Given the description of an element on the screen output the (x, y) to click on. 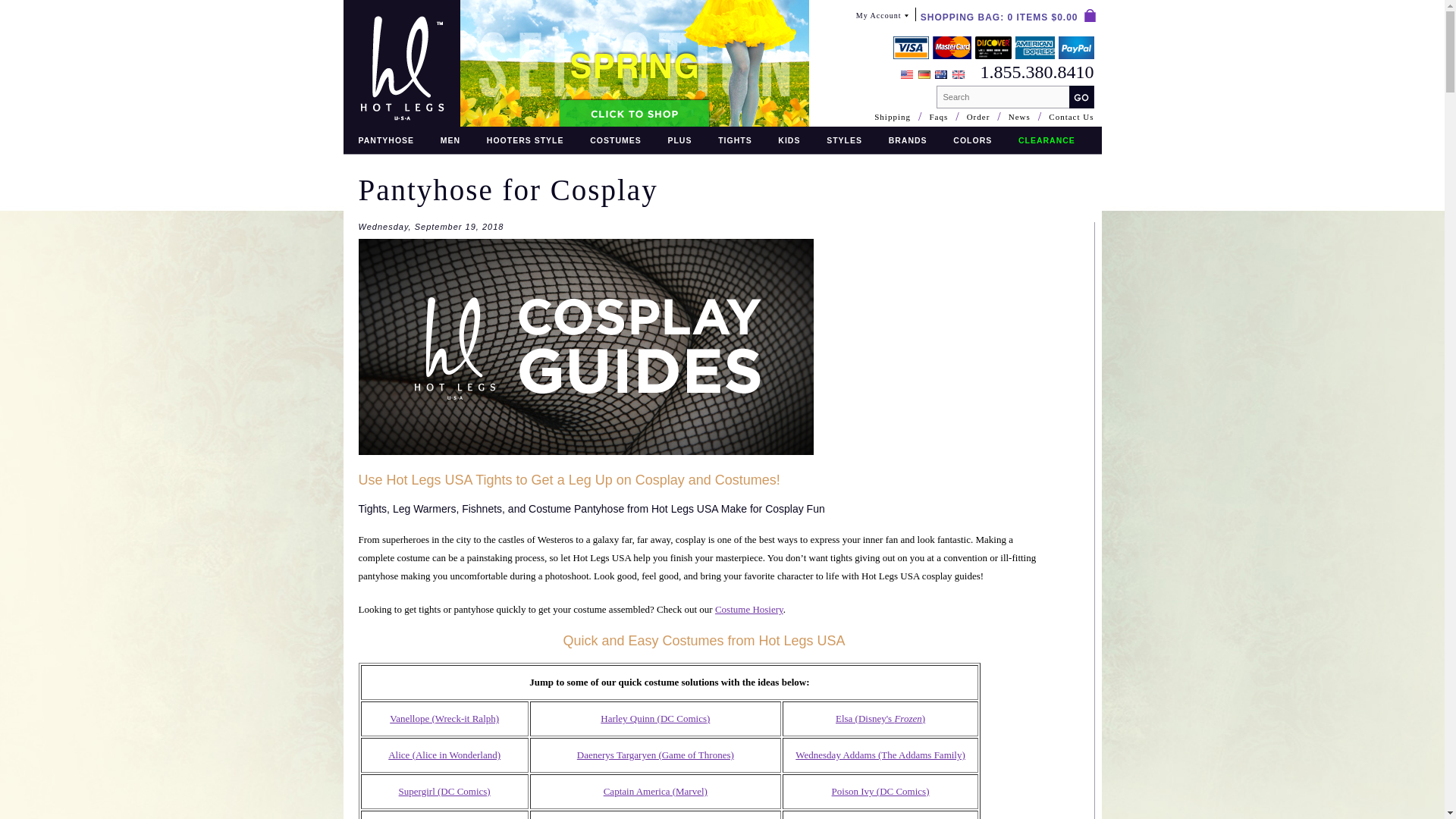
My Account (882, 19)
Shipping (893, 116)
Order (978, 116)
Buy pantyhose online with AMEX Credit Card (1034, 47)
Buy pantyhose online with VISA Credit Card (910, 47)
Buy pantyhose from Peavey, Leg Avenue, Tamara, Jockey online (385, 139)
